Given the description of an element on the screen output the (x, y) to click on. 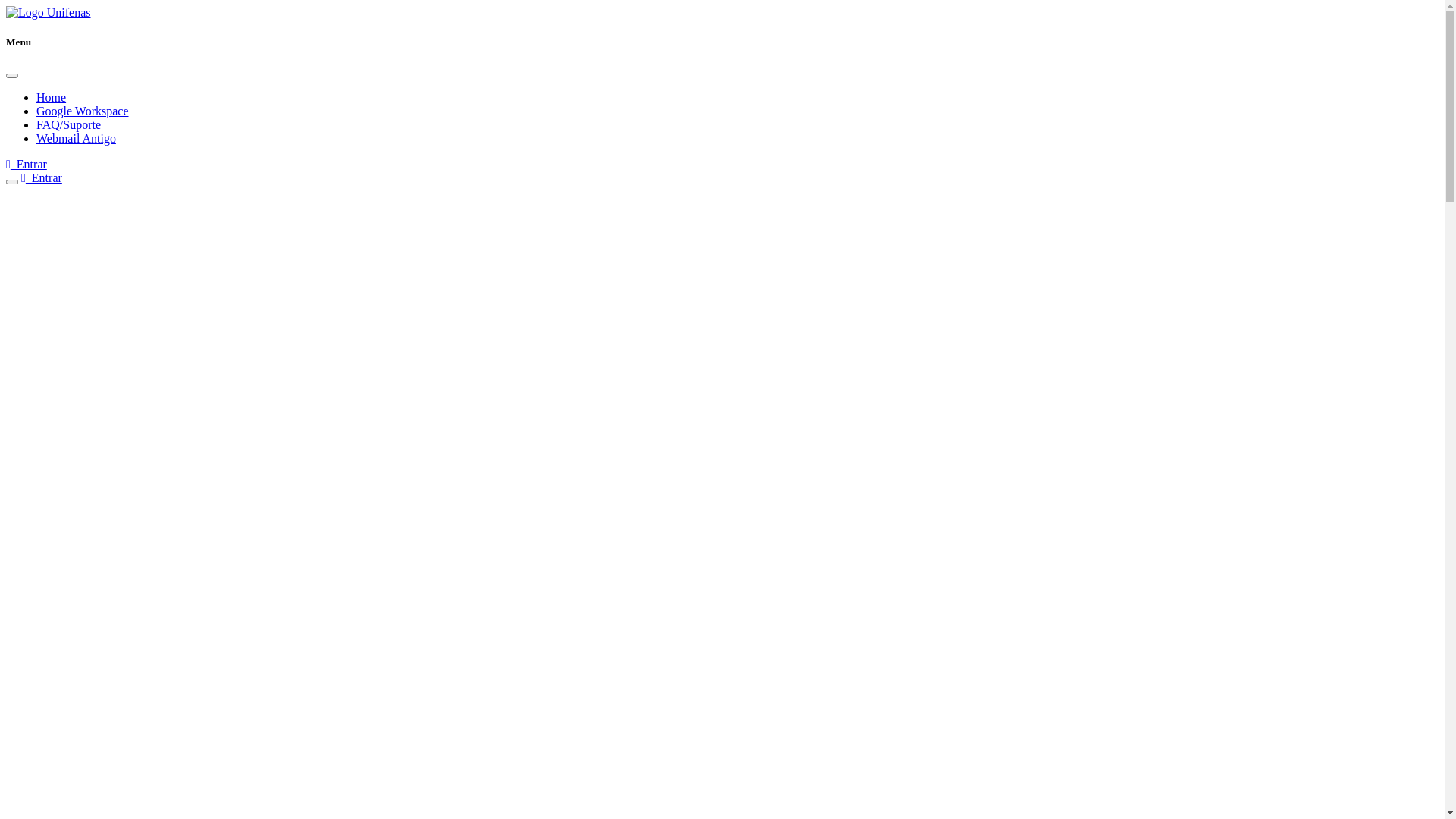
Webmail Antigo Element type: text (76, 137)
 Entrar Element type: text (26, 163)
Home Element type: text (50, 97)
 Entrar Element type: text (41, 177)
FAQ/Suporte Element type: text (68, 124)
Google Workspace Element type: text (82, 110)
